Given the description of an element on the screen output the (x, y) to click on. 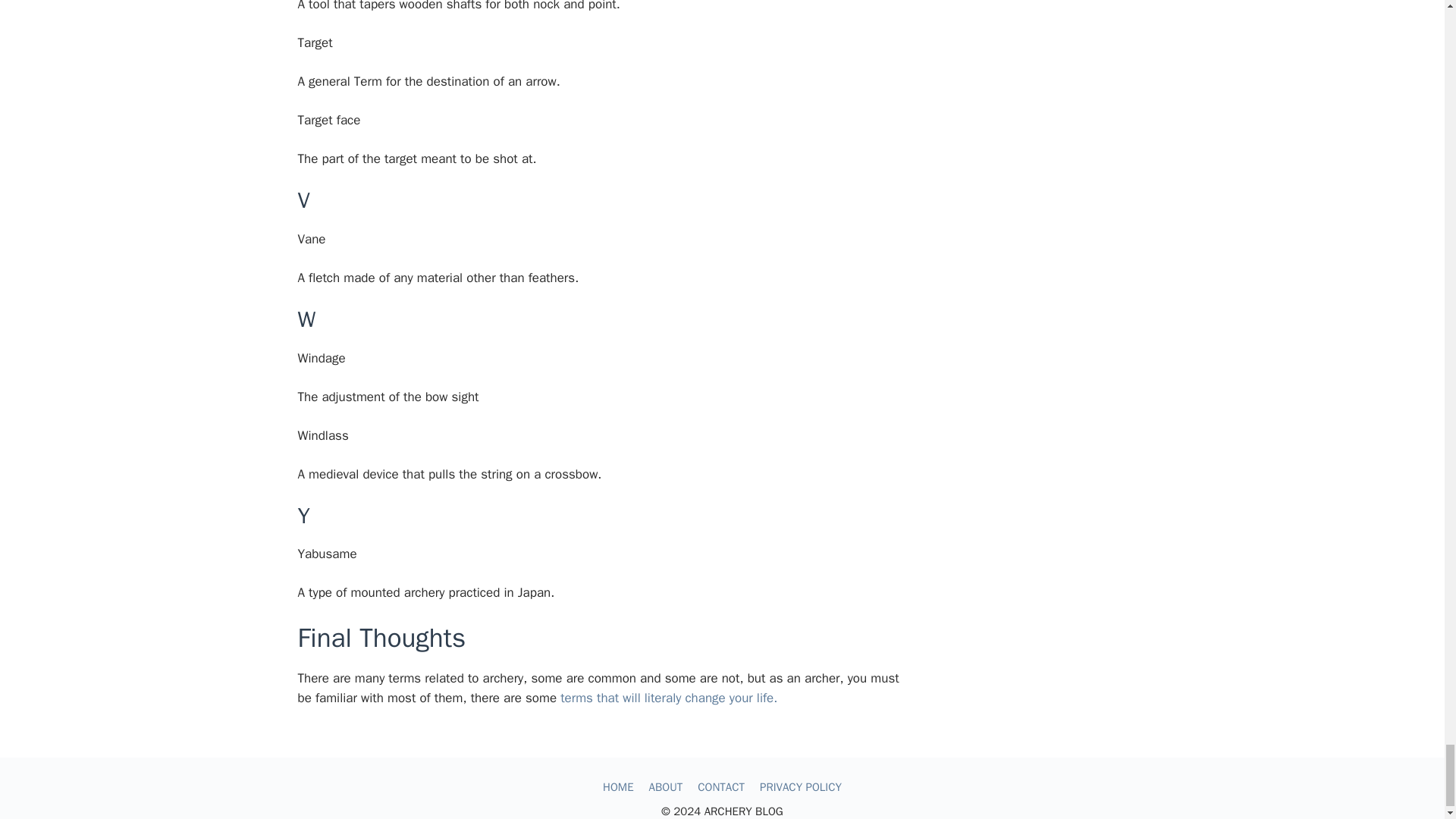
HOME (617, 786)
PRIVACY POLICY (800, 786)
ABOUT (665, 786)
terms that will literaly change your life. (668, 697)
CONTACT (720, 786)
